Given the description of an element on the screen output the (x, y) to click on. 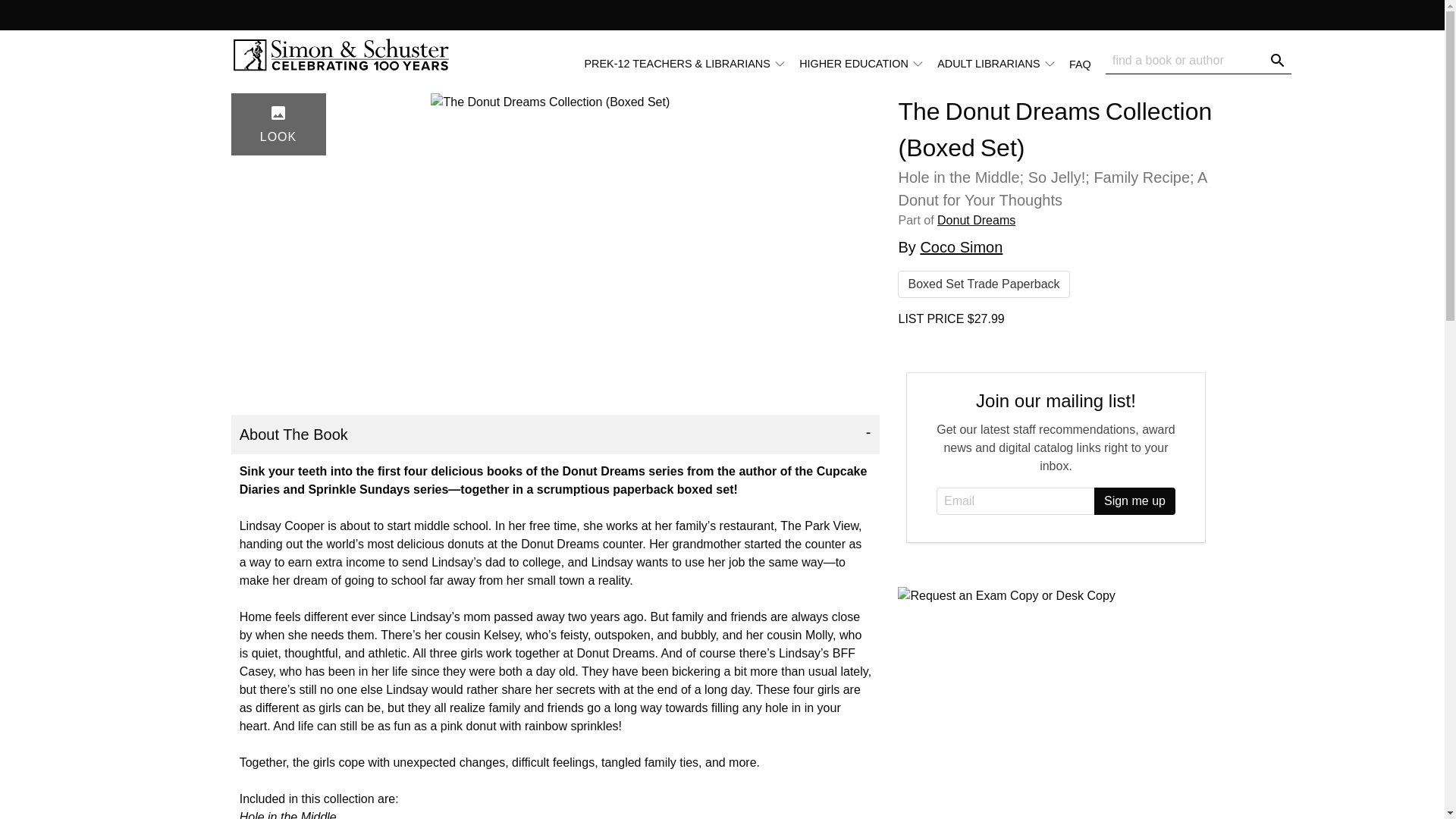
Sign me up (1134, 501)
LOOK (278, 123)
Request an Exam Copy or Desk Copy (1006, 596)
FAQ (1086, 63)
HIGHER EDUCATION (861, 63)
ADULT LIBRARIANS (995, 63)
HIGHER EDUCATION (868, 63)
ADULT LIBRARIANS (1002, 63)
FAQ (1079, 63)
